Given the description of an element on the screen output the (x, y) to click on. 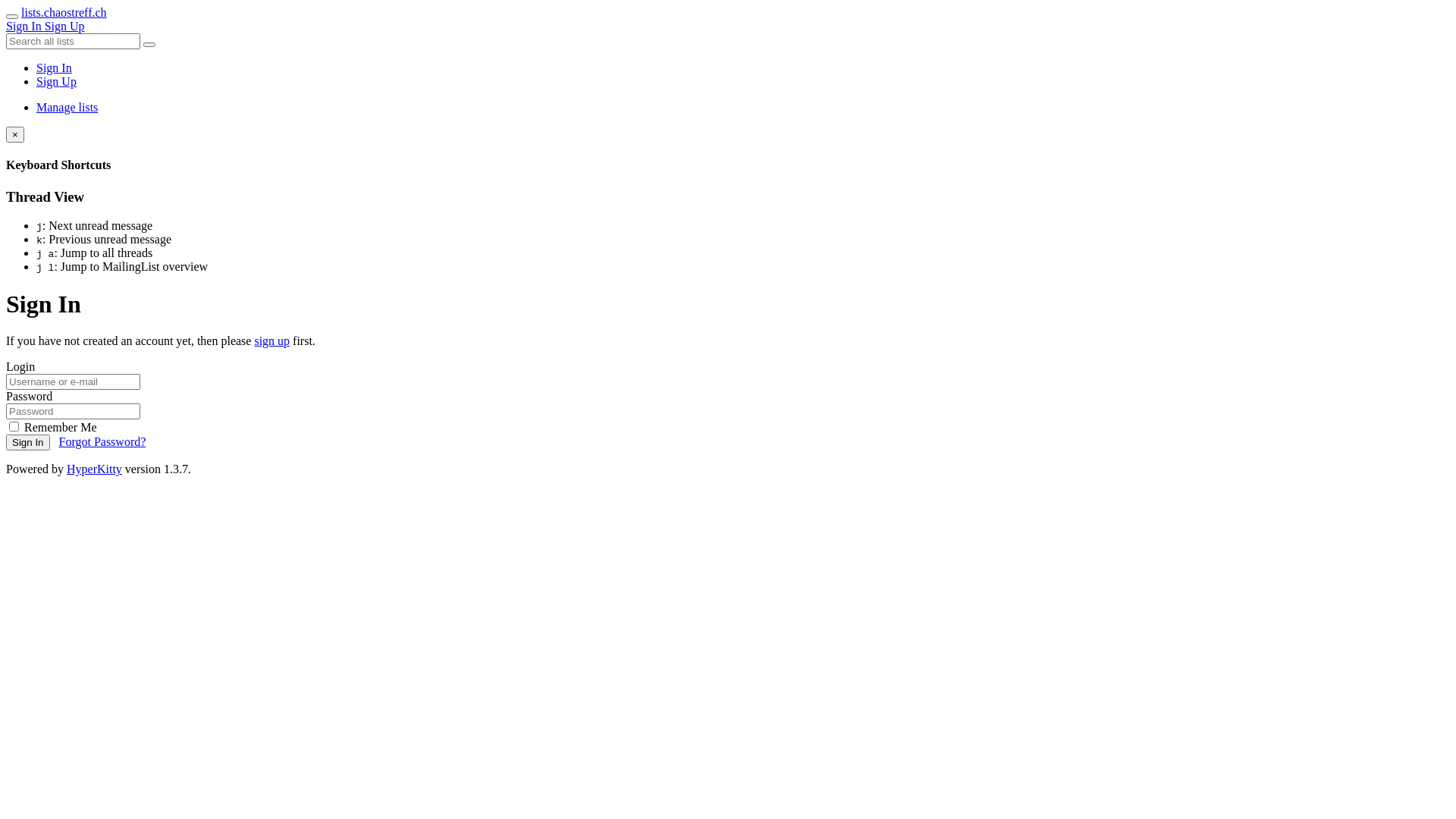
sign up Element type: text (271, 340)
Sign Up Element type: text (64, 25)
Sign Up Element type: text (56, 81)
HyperKitty Element type: text (94, 468)
Sign In Element type: text (54, 67)
Sign In Element type: text (25, 25)
Forgot Password? Element type: text (102, 441)
lists.chaostreff.ch Element type: text (63, 12)
Sign In Element type: text (28, 442)
Manage lists Element type: text (66, 106)
